Given the description of an element on the screen output the (x, y) to click on. 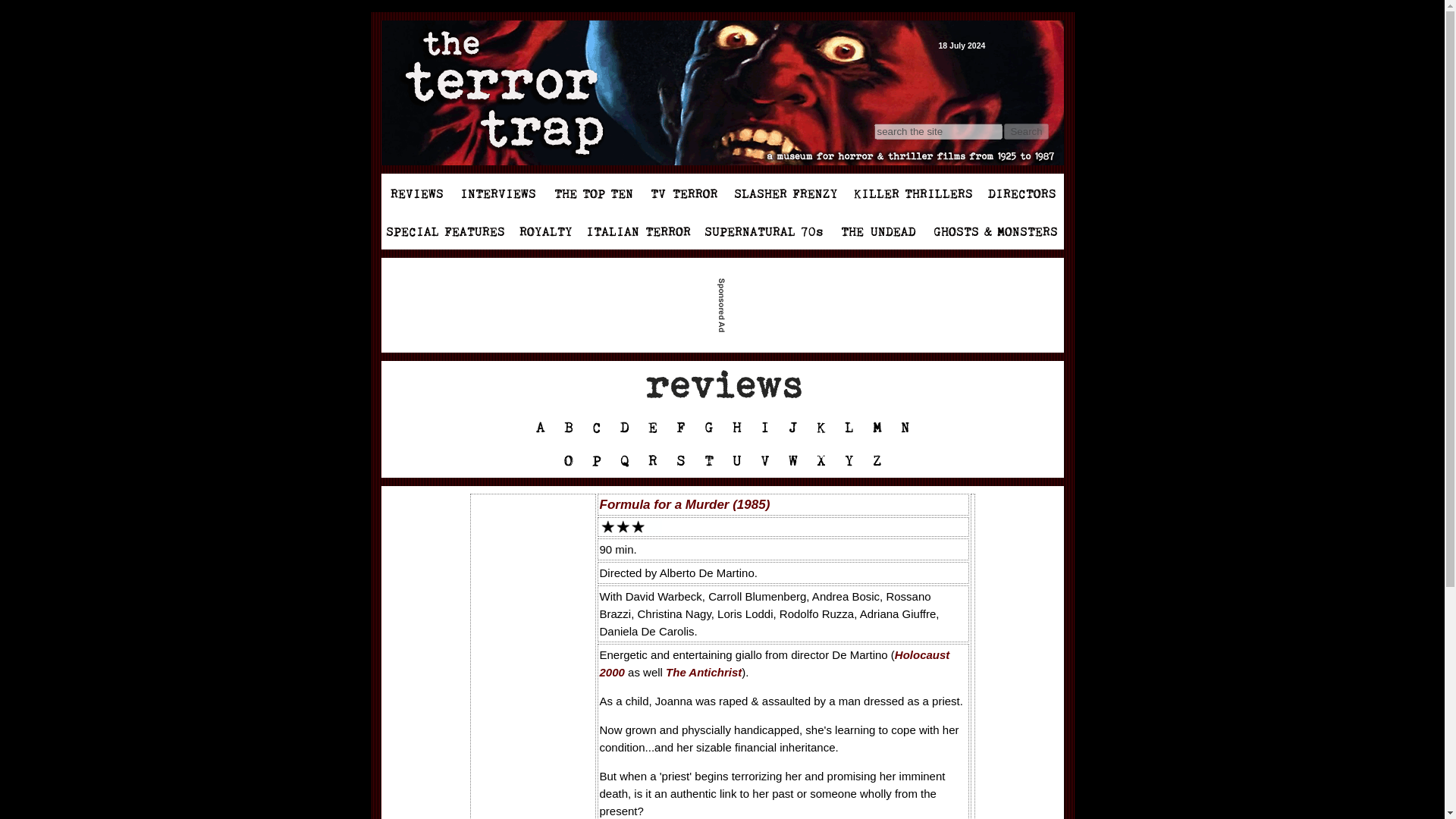
Search (1026, 131)
Search (1026, 131)
search the site (937, 131)
